Given the description of an element on the screen output the (x, y) to click on. 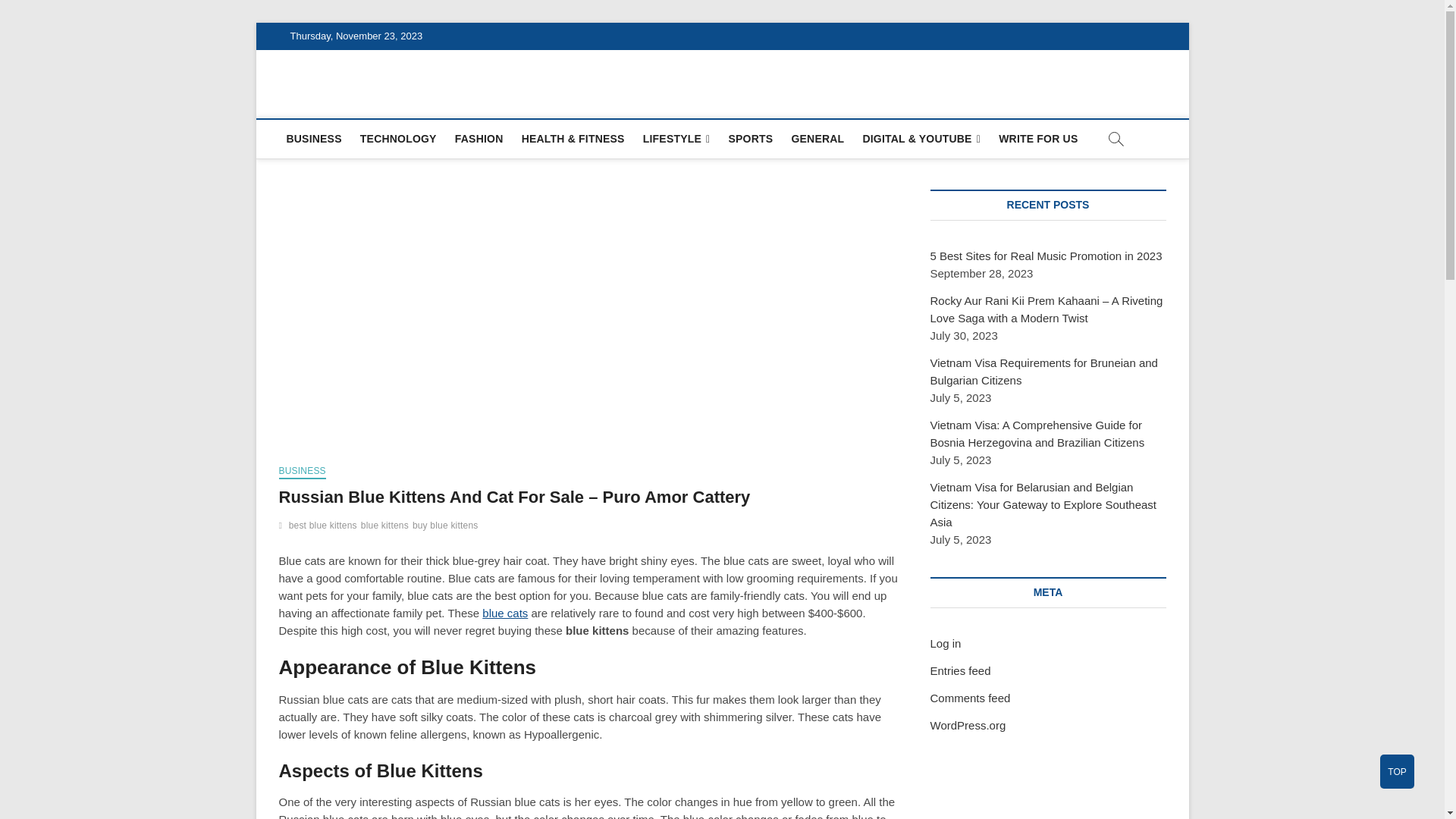
GENERAL (817, 138)
BUSINESS (302, 472)
FASHION (478, 138)
5 Best Sites for Real Music Promotion in 2023 (1045, 255)
WRITE FOR US (1037, 138)
buy blue kittens (446, 527)
blue cats (504, 612)
Log in (945, 643)
